Given the description of an element on the screen output the (x, y) to click on. 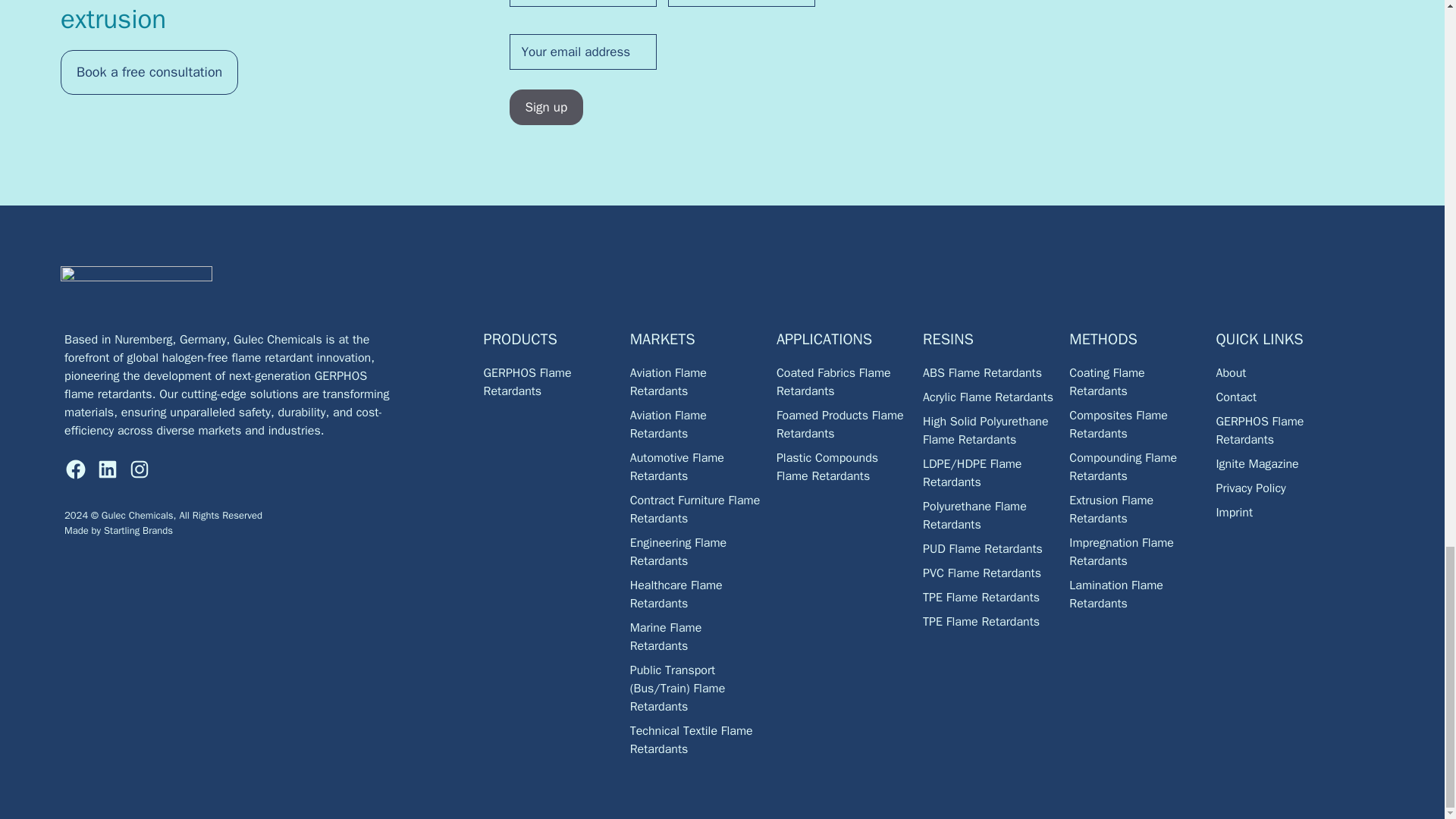
Sign up (546, 107)
